Given the description of an element on the screen output the (x, y) to click on. 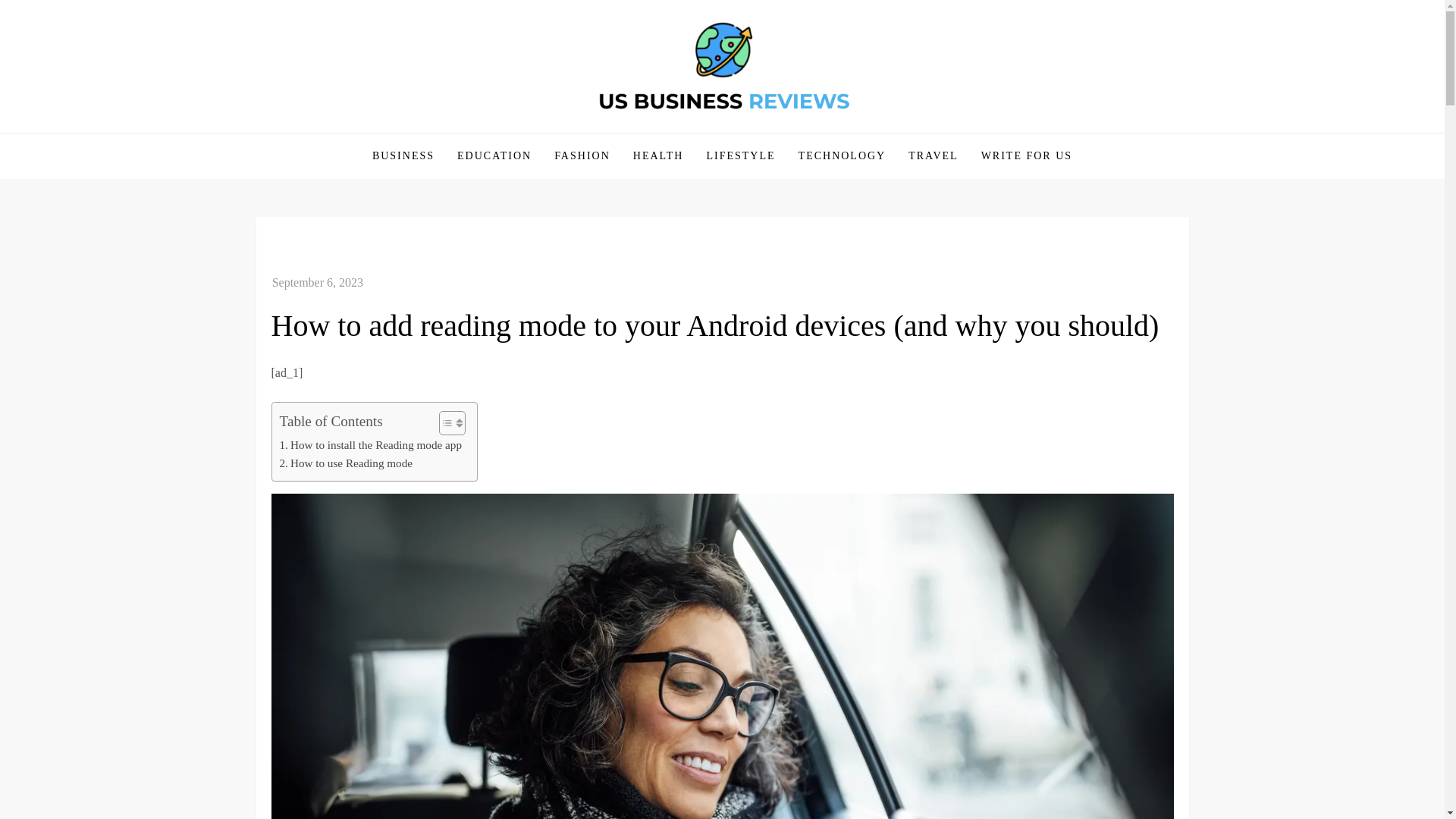
September 6, 2023 (317, 282)
LIFESTYLE (740, 156)
TRAVEL (932, 156)
WRITE FOR US (1026, 156)
How to install the Reading mode app (370, 444)
How to use Reading mode (345, 463)
EDUCATION (494, 156)
HEALTH (658, 156)
TECHNOLOGY (842, 156)
BUSINESS (403, 156)
How to install the Reading mode app (370, 444)
FASHION (582, 156)
How to use Reading mode (345, 463)
Best Business Review Site 2024 (452, 131)
